Given the description of an element on the screen output the (x, y) to click on. 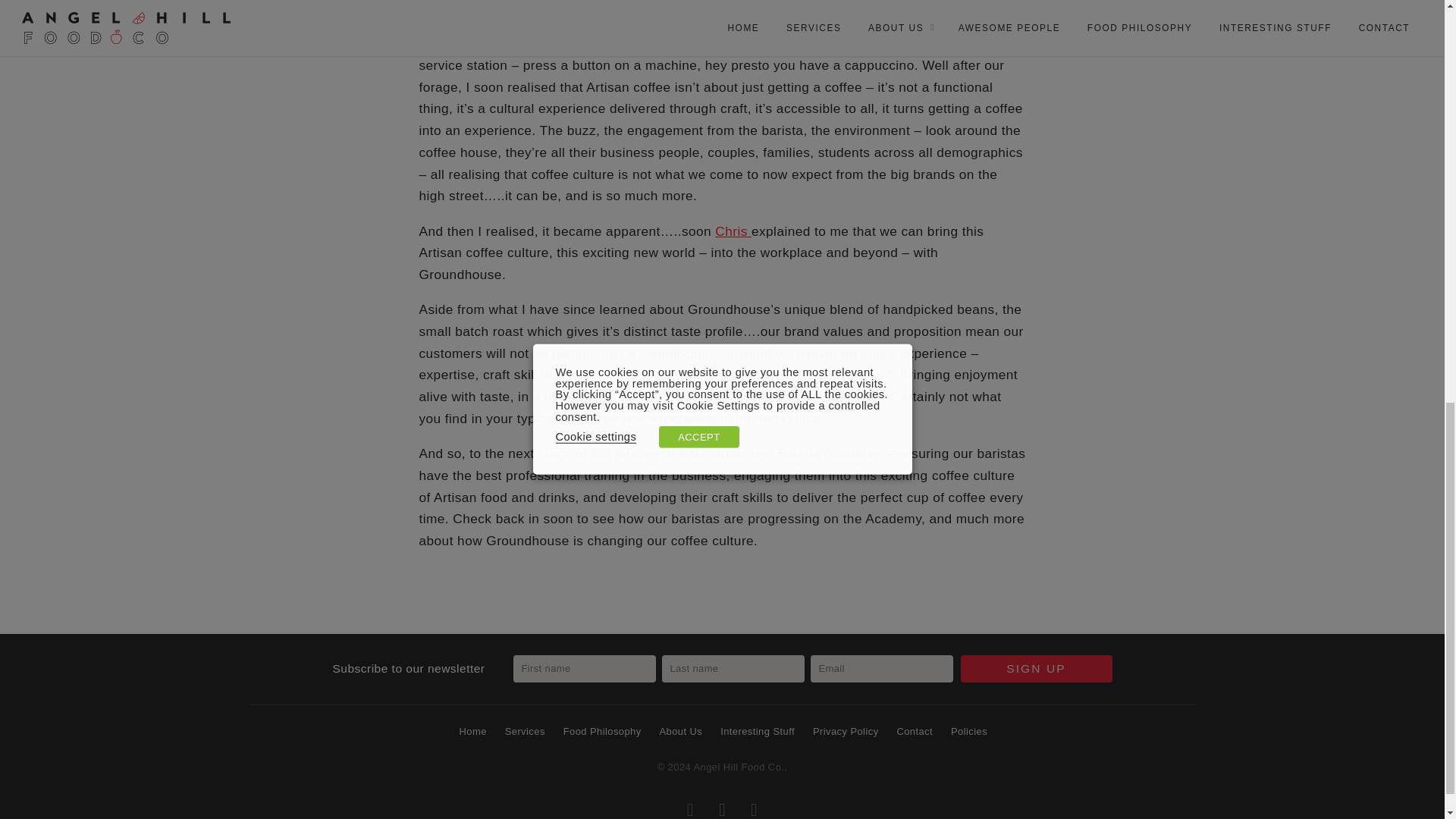
Privacy Policy (843, 732)
Policies (968, 732)
Services (523, 732)
Home (471, 732)
Interesting Stuff (756, 732)
About Us (679, 732)
Chris (732, 231)
Sign Up (1035, 668)
Sign Up (1035, 668)
Contact (914, 732)
